Given the description of an element on the screen output the (x, y) to click on. 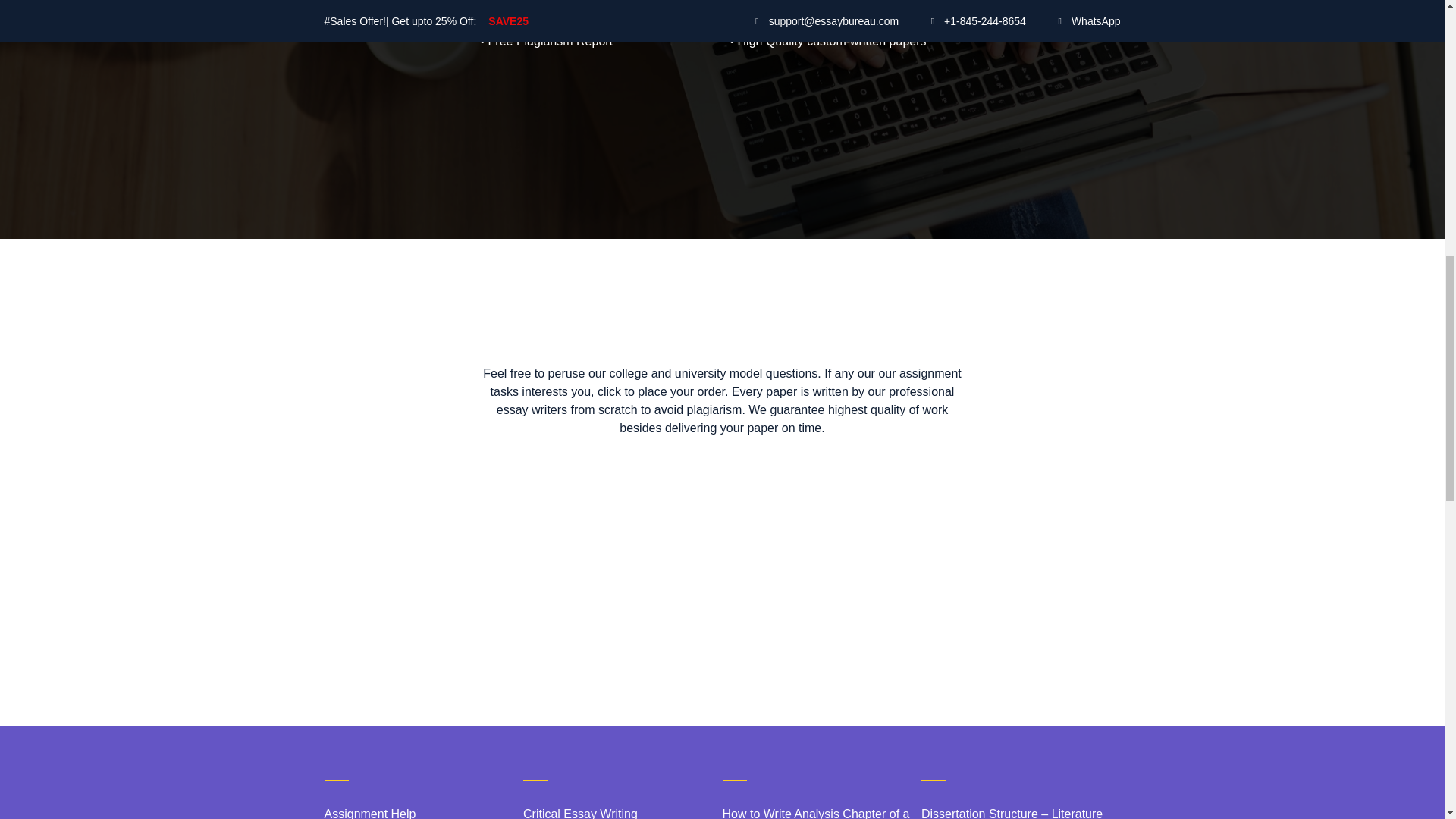
Assignment Help (424, 812)
